Given the description of an element on the screen output the (x, y) to click on. 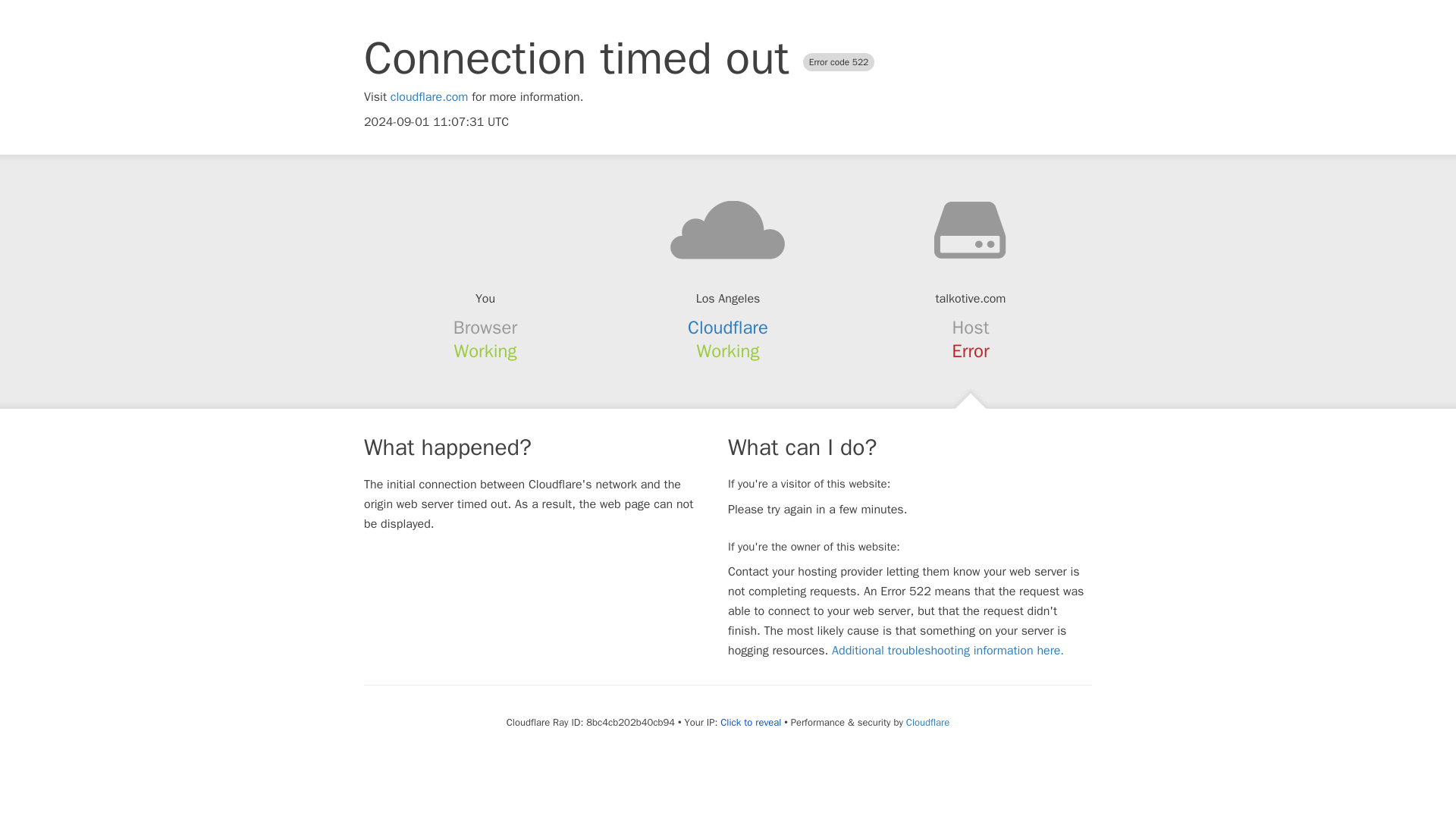
Click to reveal (750, 722)
Additional troubleshooting information here. (947, 650)
Cloudflare (927, 721)
cloudflare.com (429, 96)
Cloudflare (727, 327)
